Given the description of an element on the screen output the (x, y) to click on. 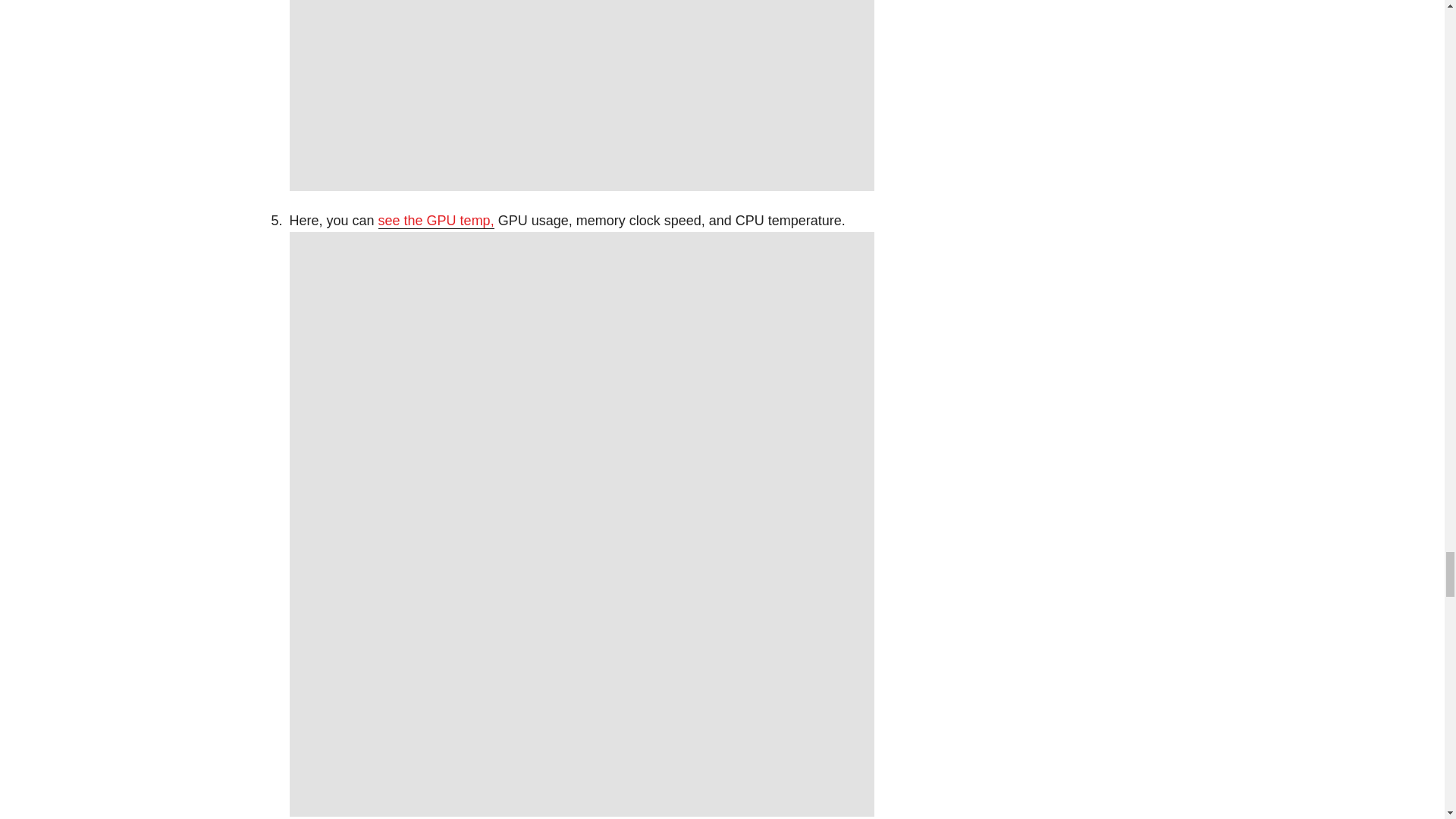
8 Best Tools To Monitor CPU Temperature 26 (582, 95)
